Given the description of an element on the screen output the (x, y) to click on. 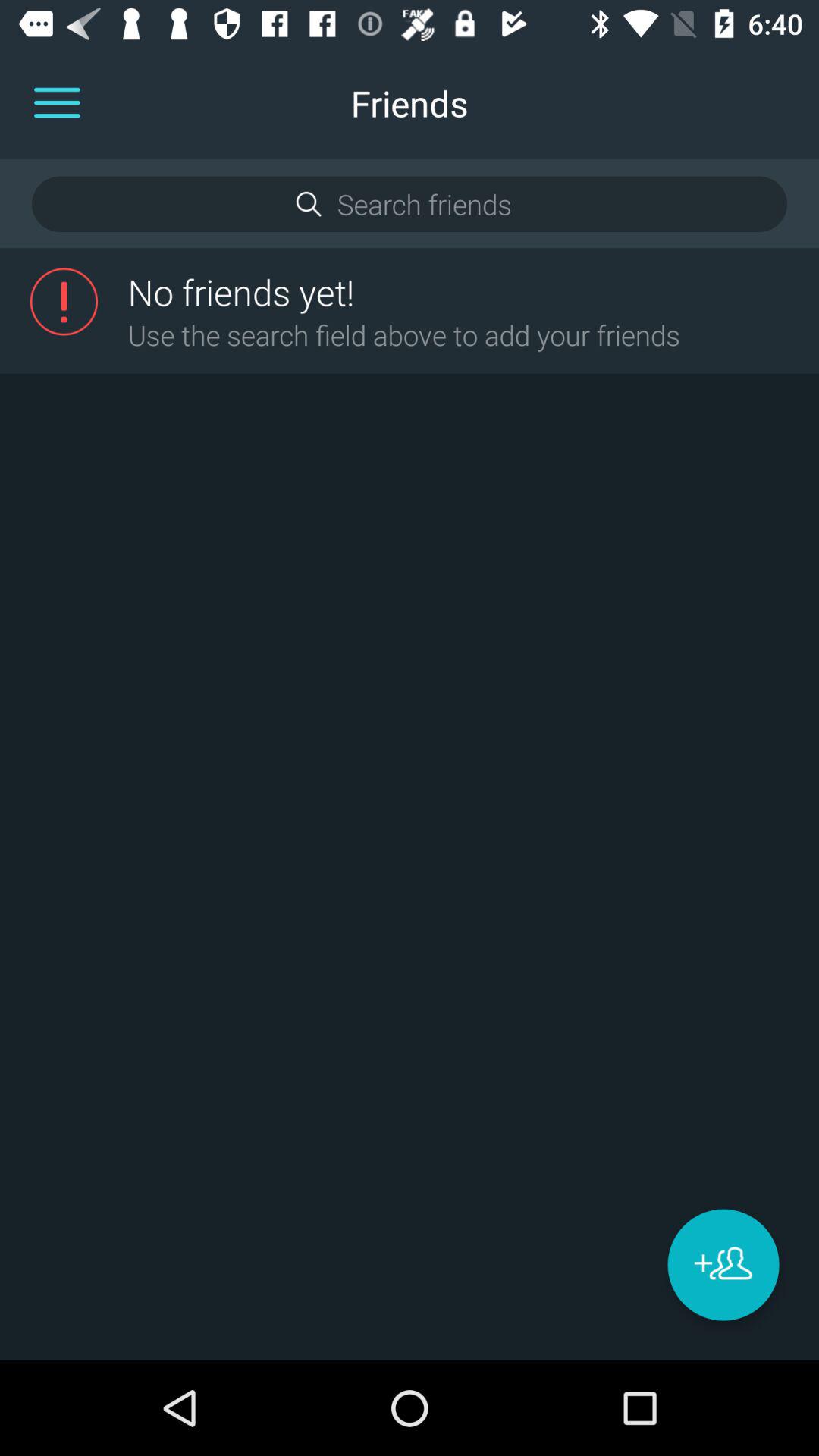
search in friends list (409, 204)
